Given the description of an element on the screen output the (x, y) to click on. 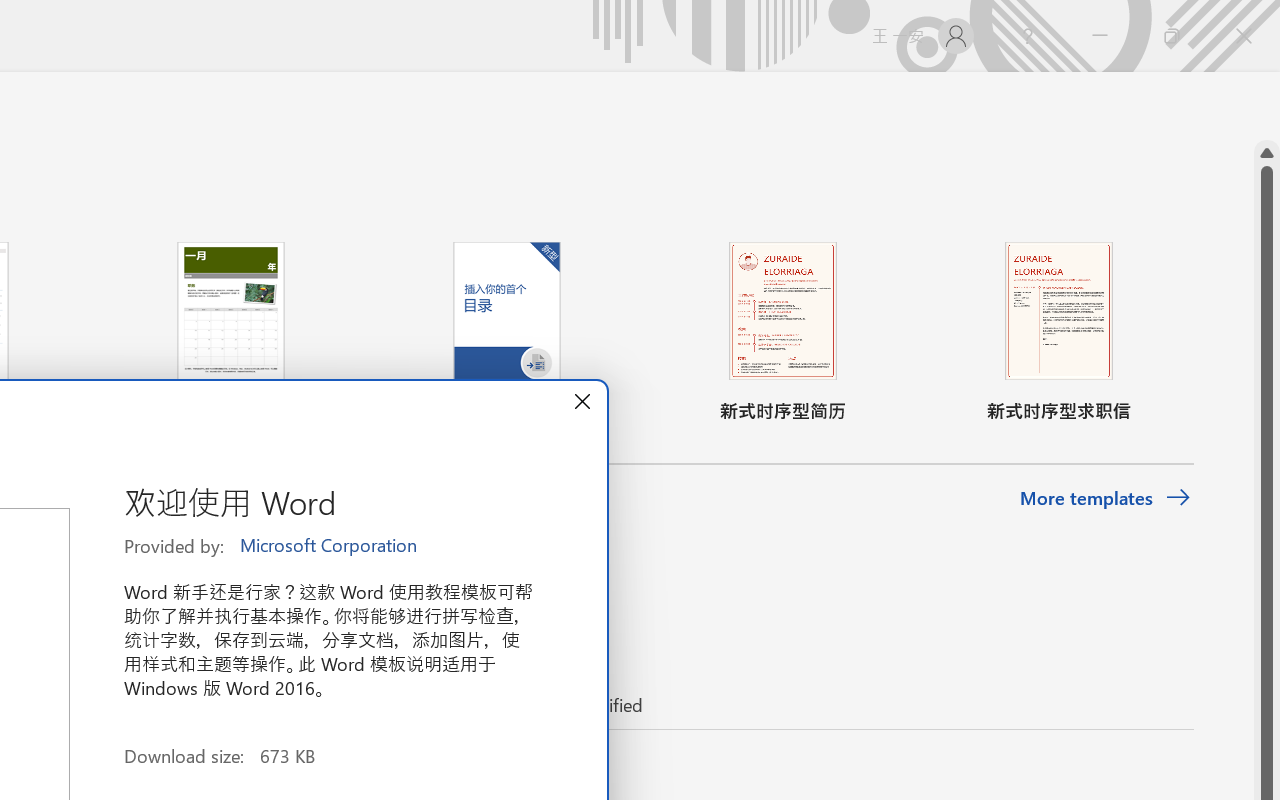
Microsoft Corporation (330, 546)
More templates (1105, 498)
Line up (1267, 153)
